Given the description of an element on the screen output the (x, y) to click on. 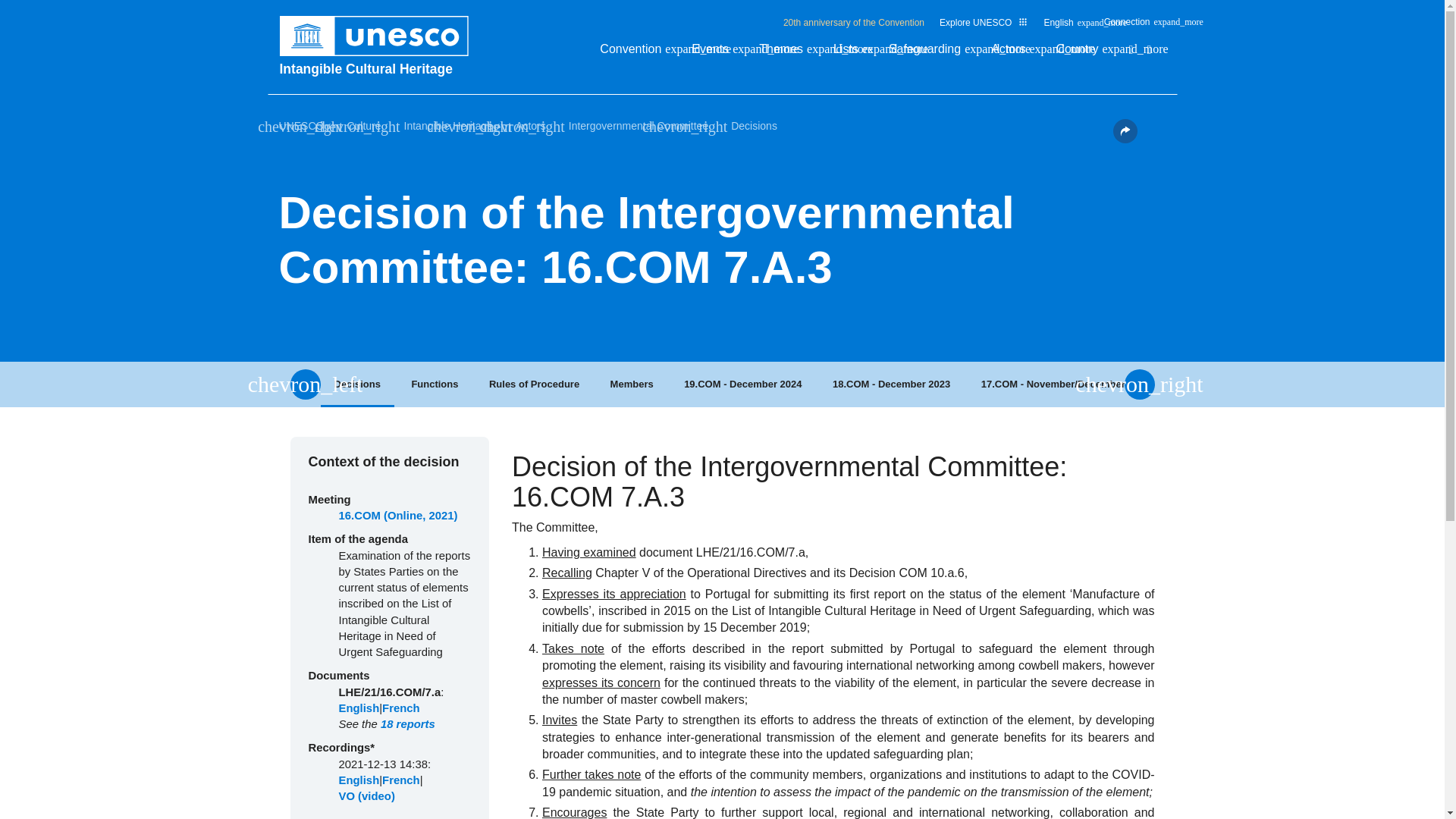
Safeguarding (931, 52)
Publications (1130, 50)
Lists (852, 52)
Search ICH website (1149, 50)
Country (1084, 52)
Themes (788, 52)
Events (717, 52)
Events (717, 52)
Convention (638, 52)
Actors (1016, 52)
Connection (1134, 26)
Link to UNESCO portal (381, 35)
20th anniversary of the Convention (853, 22)
Explore UNESCO (983, 22)
